Given the description of an element on the screen output the (x, y) to click on. 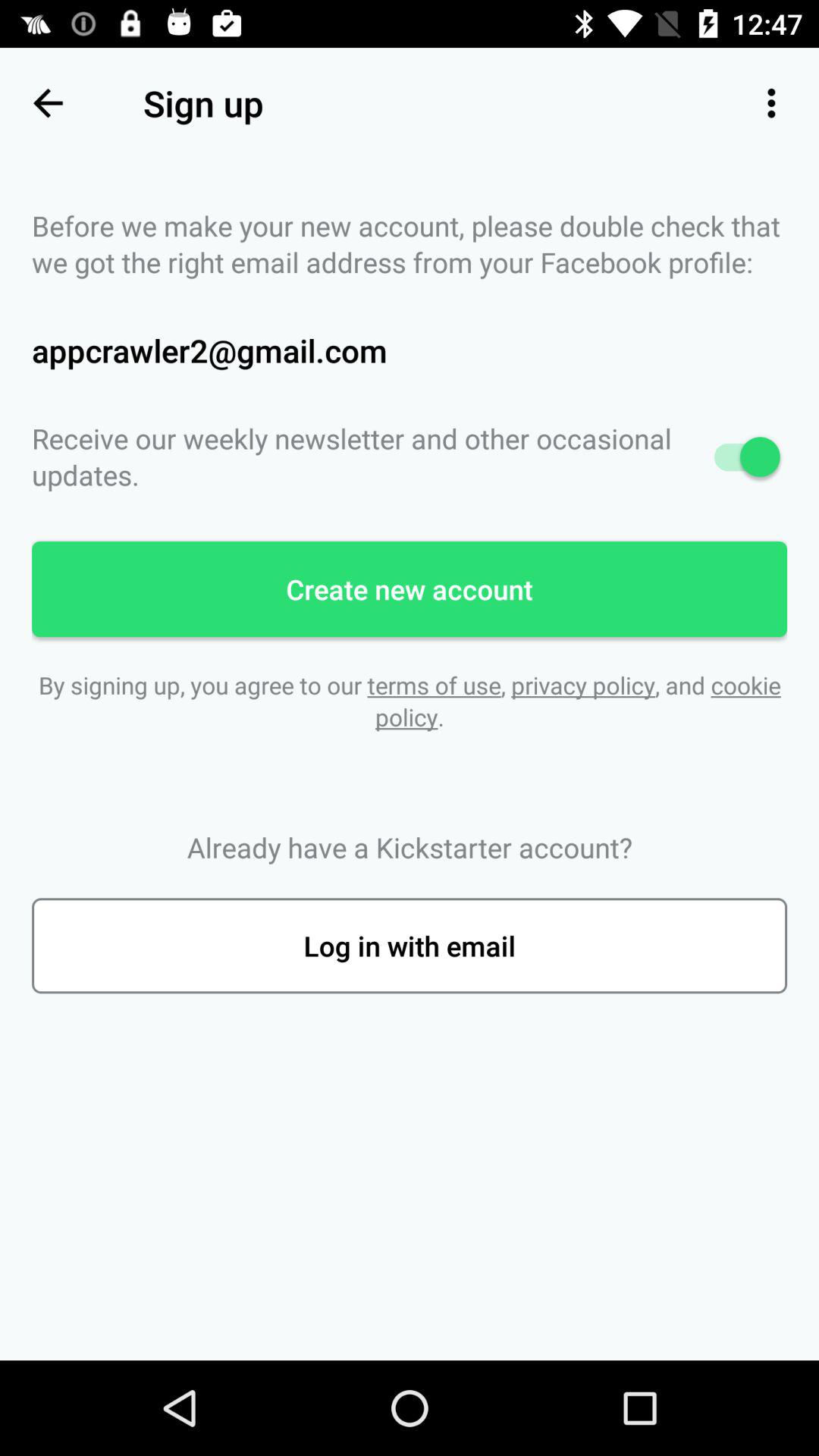
launch item to the right of the sign up item (771, 103)
